Given the description of an element on the screen output the (x, y) to click on. 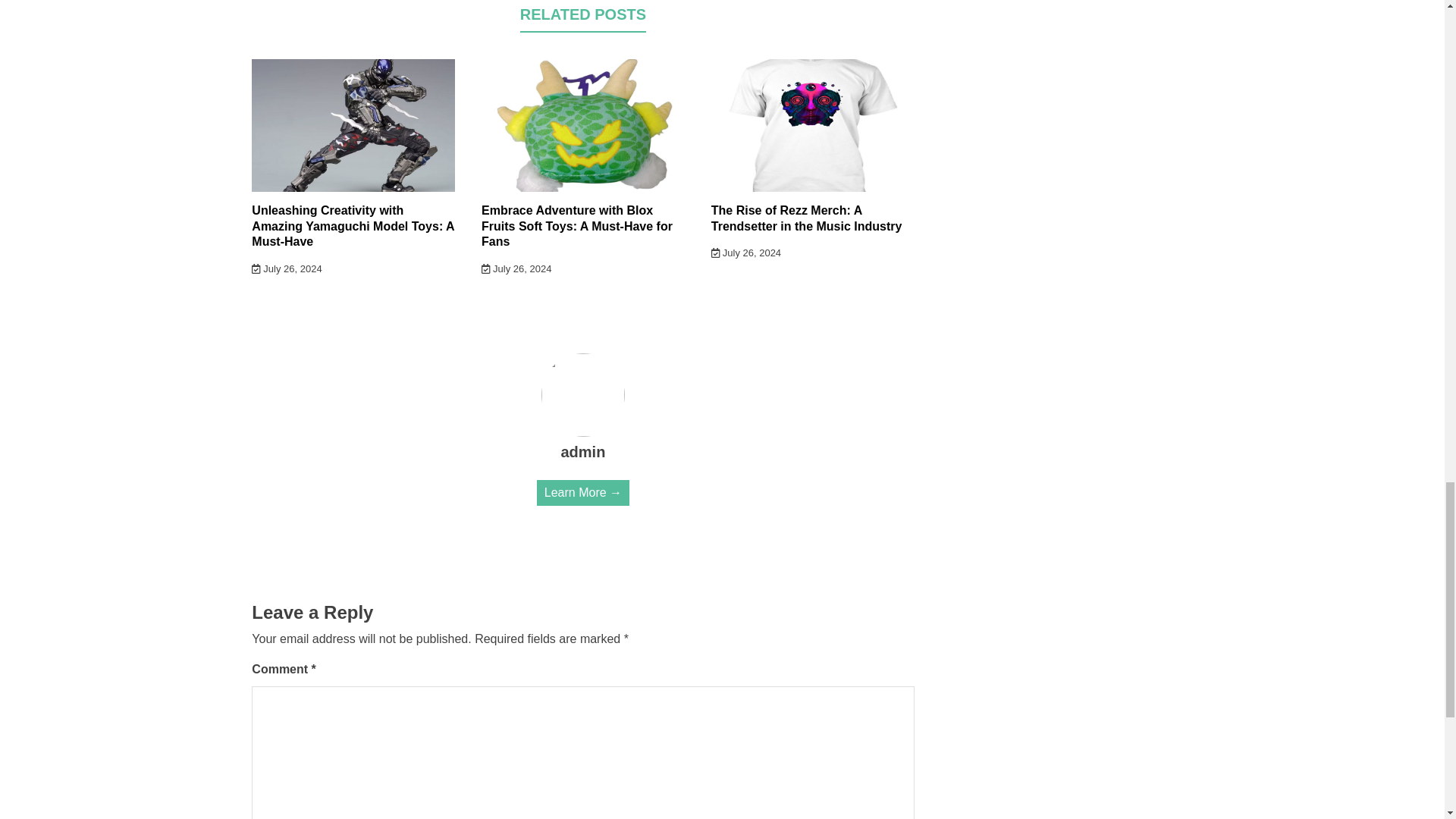
The Rise of Rezz Merch: A Trendsetter in the Music Industry (806, 217)
July 26, 2024 (286, 268)
July 26, 2024 (745, 252)
July 26, 2024 (516, 268)
